Given the description of an element on the screen output the (x, y) to click on. 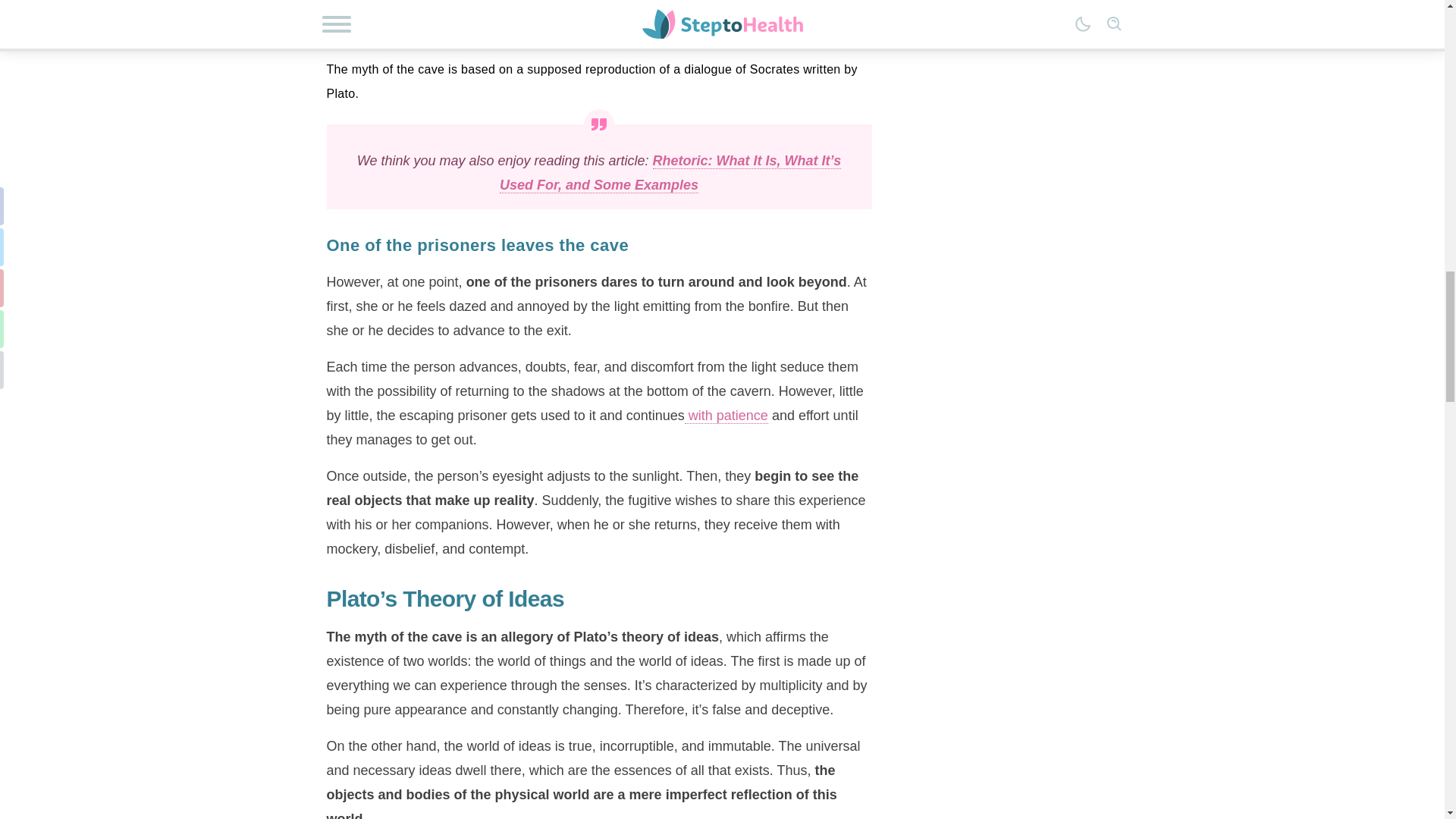
with patience (726, 415)
